Given the description of an element on the screen output the (x, y) to click on. 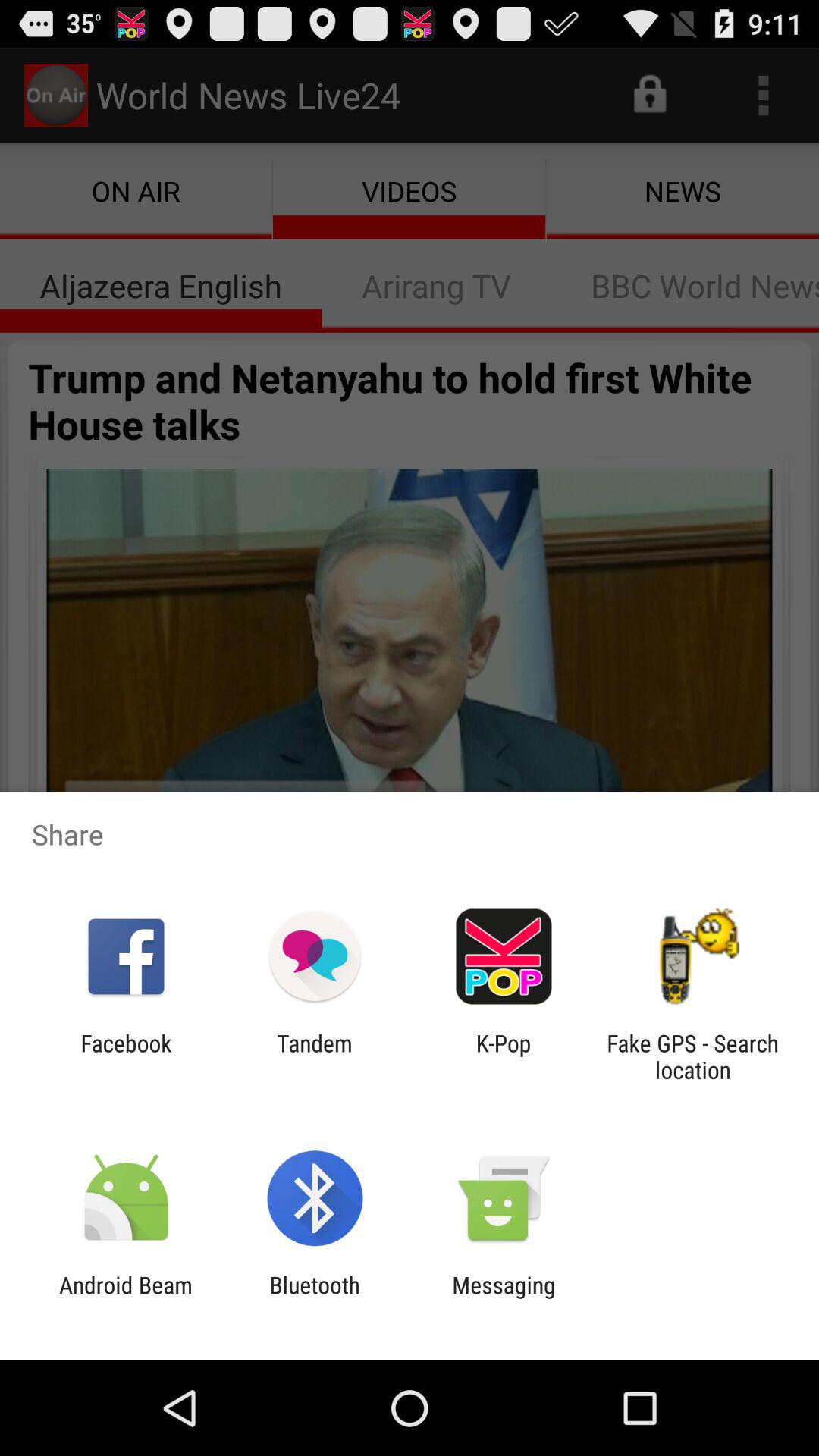
select the app to the right of k-pop app (692, 1056)
